Given the description of an element on the screen output the (x, y) to click on. 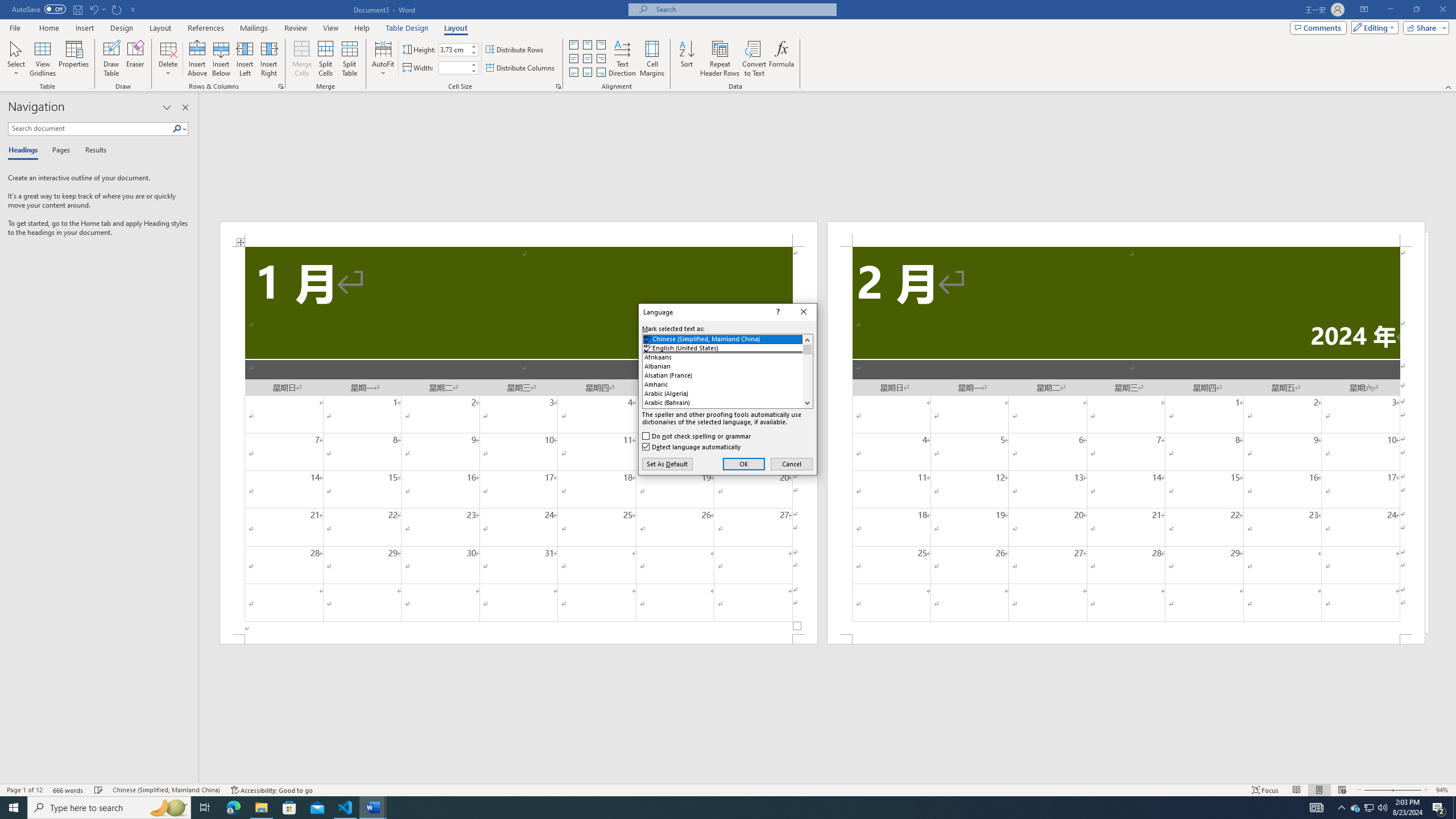
More (473, 64)
Running applications (1368, 807)
Align Top Justified (717, 807)
Split Table (573, 44)
Class: NetUIImage (349, 58)
Results (177, 128)
Show desktop (91, 150)
Read Mode (1454, 807)
Mailings (1296, 790)
AutomationID: 21 (253, 28)
Header -Section 2- (807, 370)
Zoom Out (1126, 233)
